Given the description of an element on the screen output the (x, y) to click on. 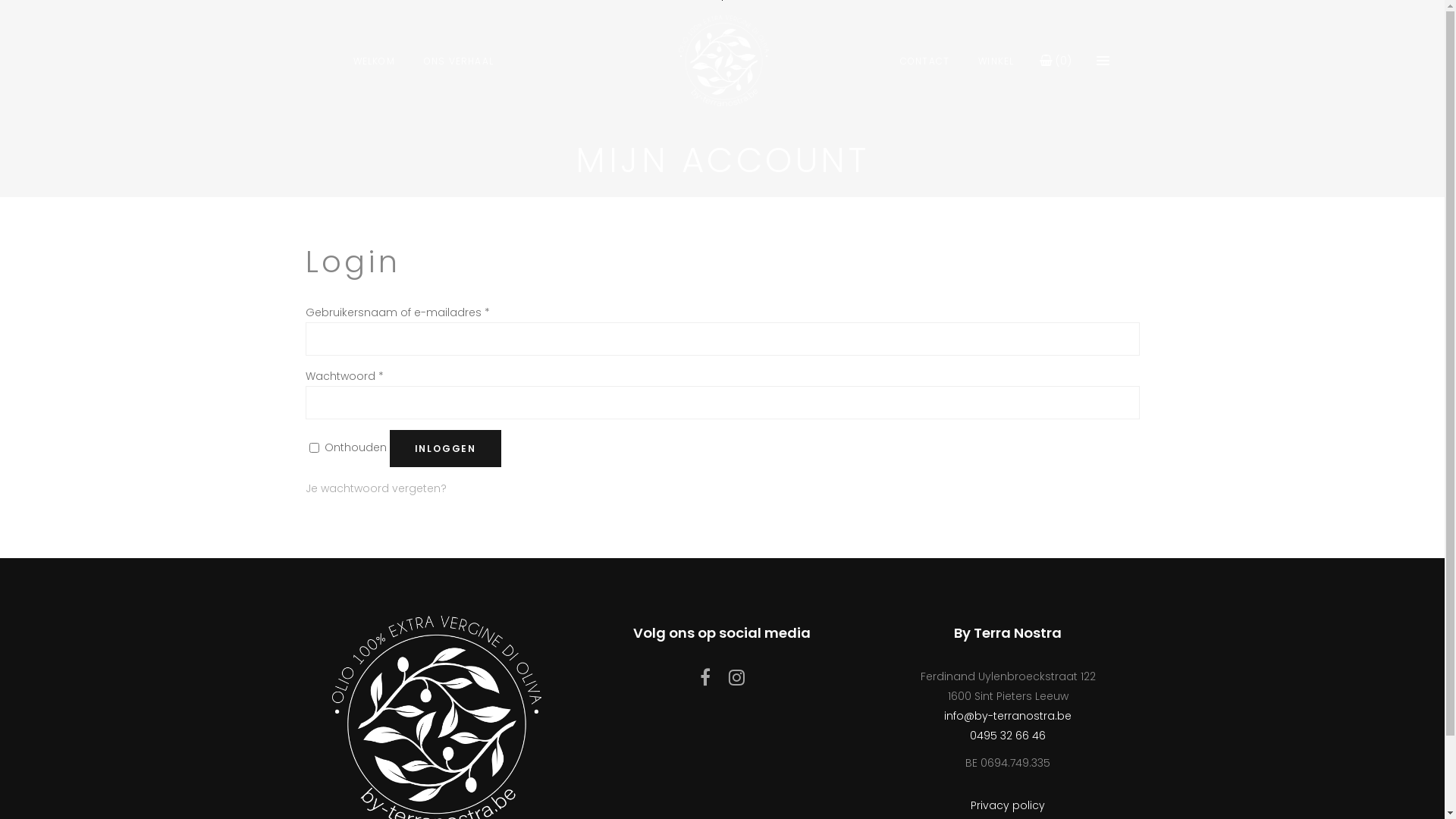
WELKOM Element type: text (373, 60)
(0) Element type: text (1054, 60)
INLOGGEN Element type: text (445, 448)
info@by-terranostra.be Element type: text (1007, 715)
Privacy policy Element type: text (1007, 804)
CONTACT Element type: text (924, 60)
ONS VERHAAL Element type: text (458, 60)
WINKEL Element type: text (995, 60)
Je wachtwoord vergeten? Element type: text (374, 487)
0495 32 66 46 Element type: text (1007, 735)
